Given the description of an element on the screen output the (x, y) to click on. 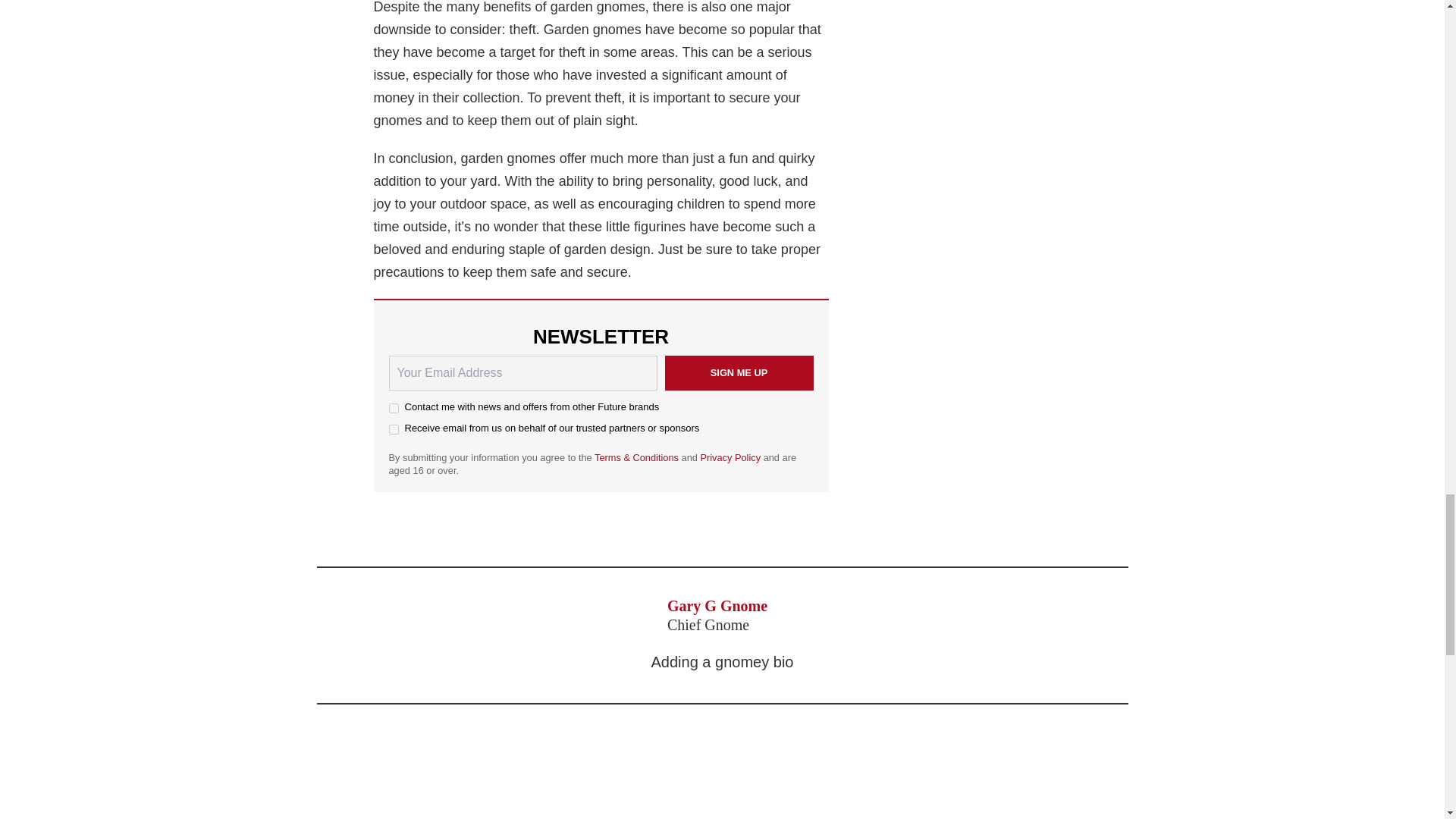
Sign me up (737, 372)
on (392, 429)
on (392, 408)
Sign me up (737, 372)
Privacy Policy (730, 457)
Gary G Gnome (716, 605)
